Given the description of an element on the screen output the (x, y) to click on. 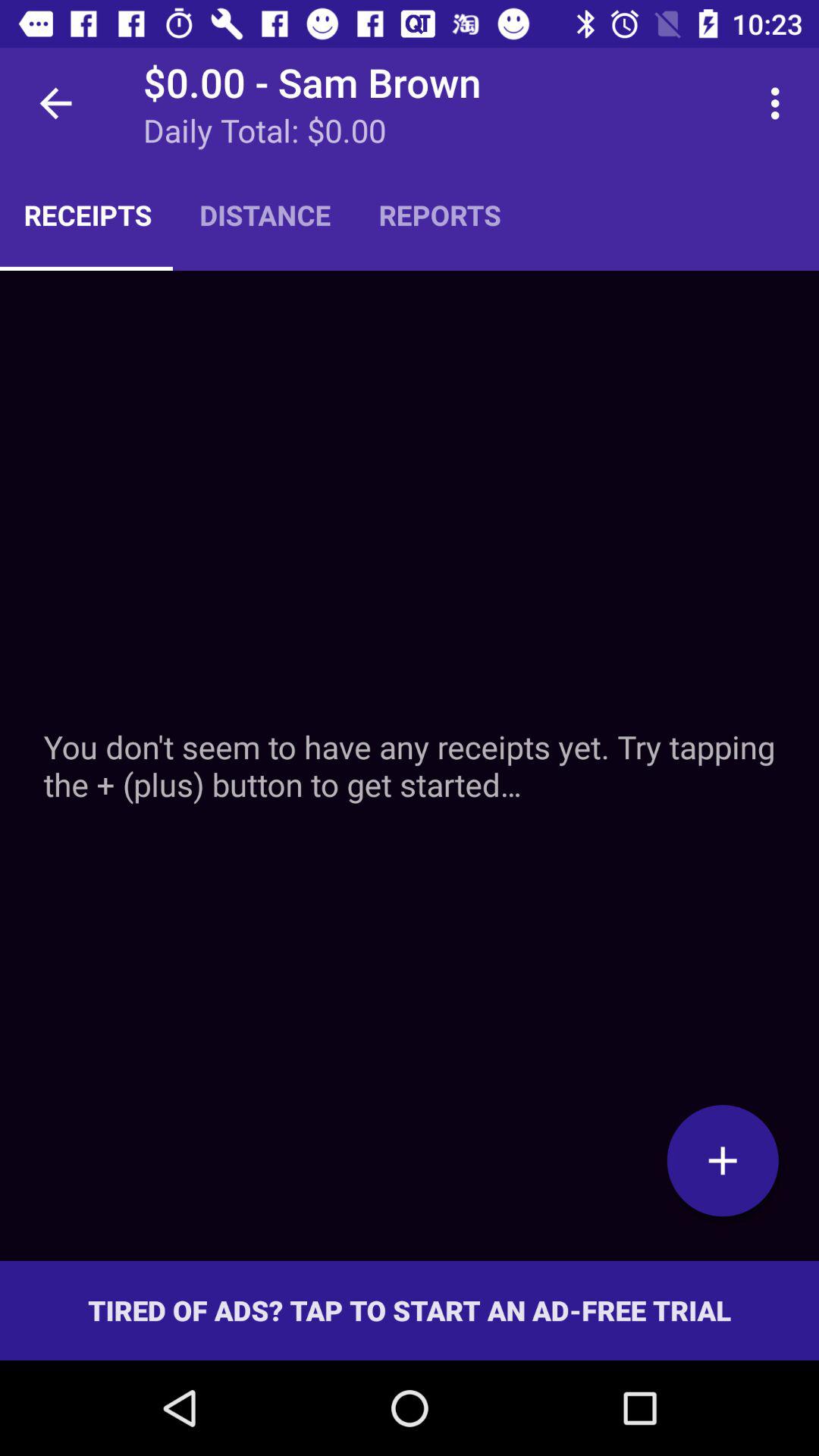
tap icon next to the 0 00 sam (55, 103)
